Given the description of an element on the screen output the (x, y) to click on. 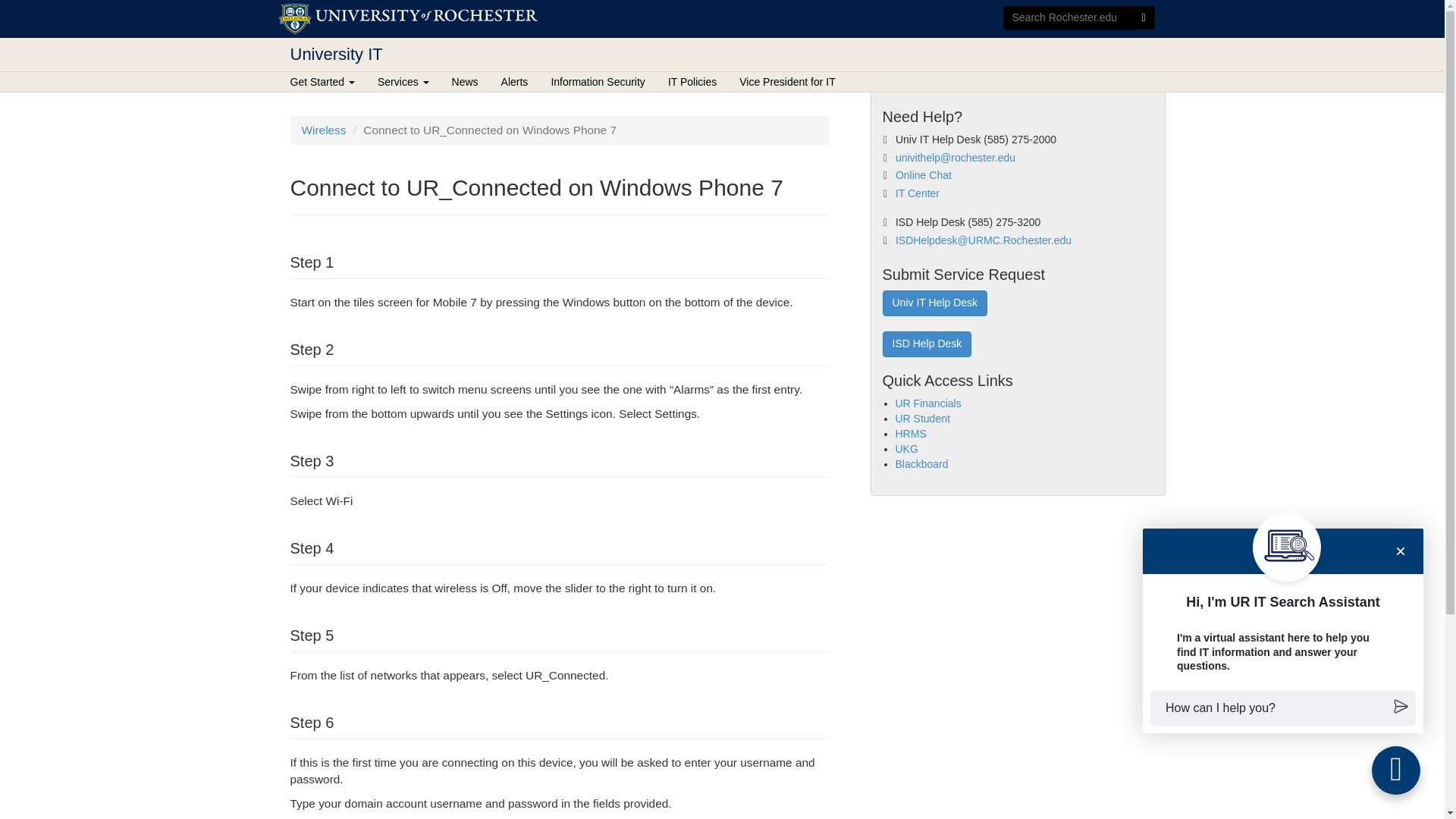
University of Rochester (408, 19)
Alerts (514, 81)
Chat with the IT Help Desk (923, 174)
Information Security (597, 81)
Log in to Self Service for Univ IT Help Desk (935, 303)
Services (403, 81)
Get Started (327, 81)
Log in to Service Portal for ISD Help Desk (927, 344)
Email the ISD Help Desk (983, 240)
IT Center (917, 193)
Online Chat (923, 174)
Email the IT Help Desk (954, 157)
IT Policies (692, 81)
News (465, 81)
Wireless (323, 129)
